Given the description of an element on the screen output the (x, y) to click on. 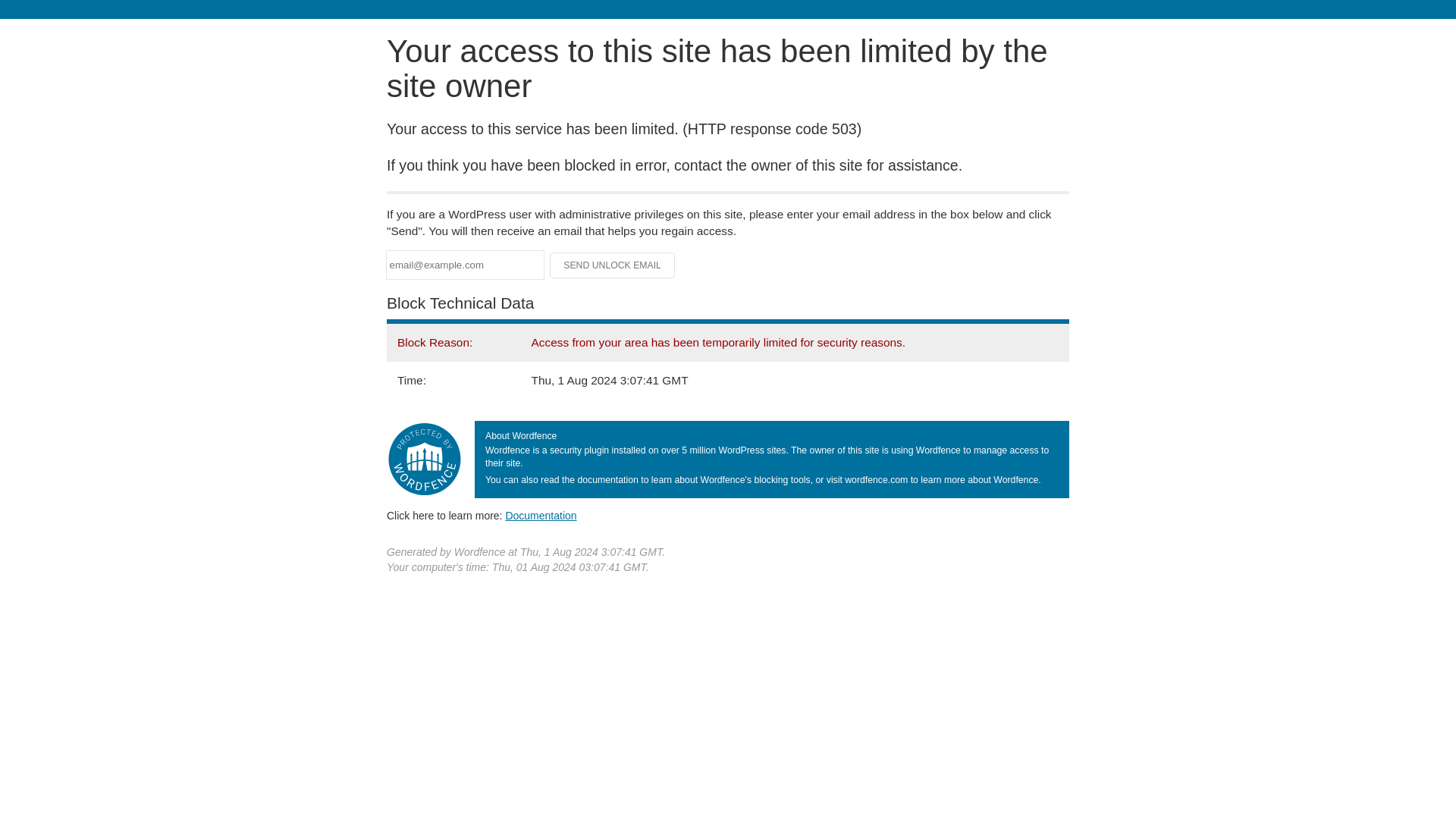
Send Unlock Email (612, 265)
Send Unlock Email (612, 265)
Documentation (540, 515)
